Given the description of an element on the screen output the (x, y) to click on. 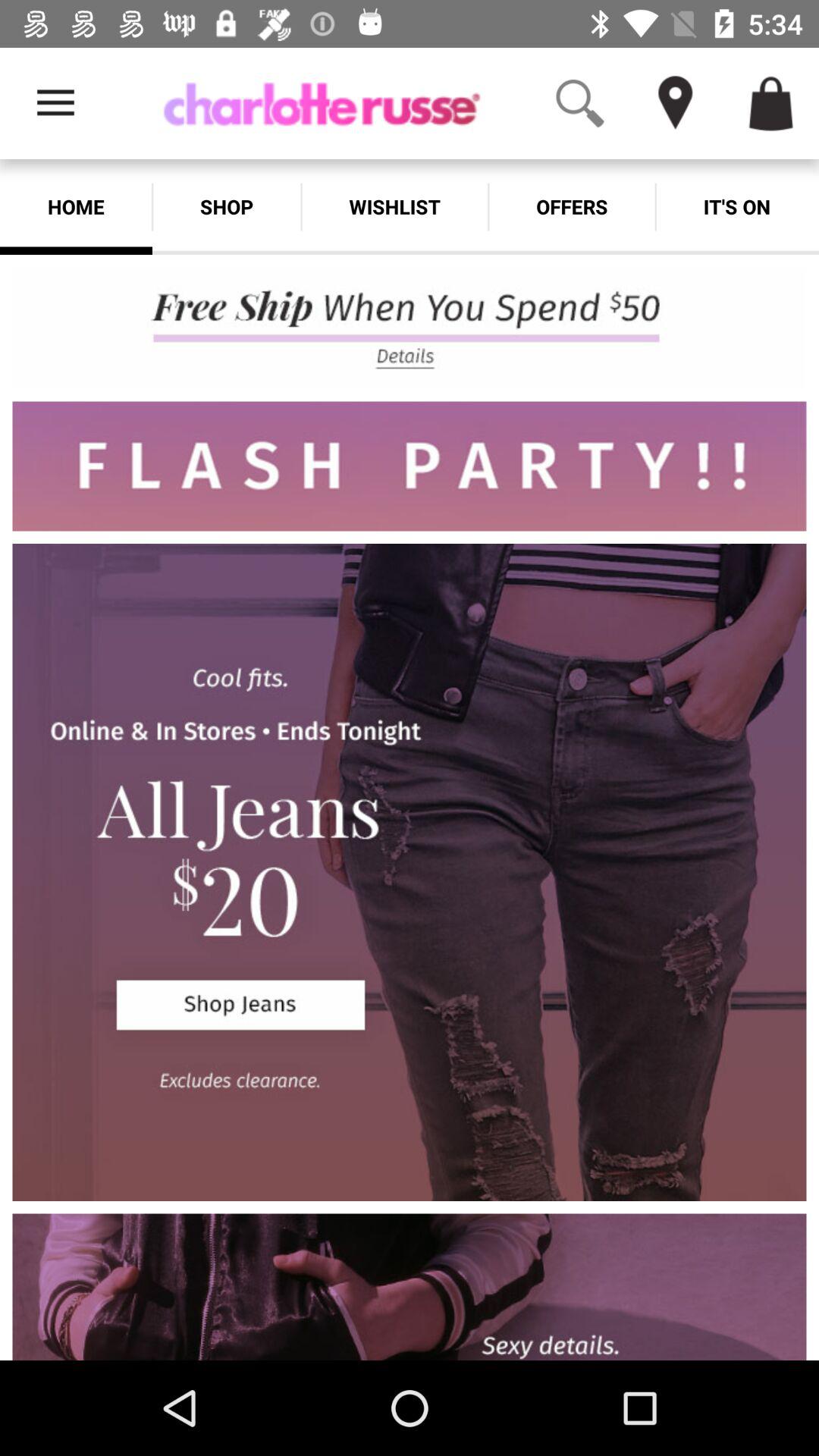
turn off the icon next to the shop app (394, 206)
